Given the description of an element on the screen output the (x, y) to click on. 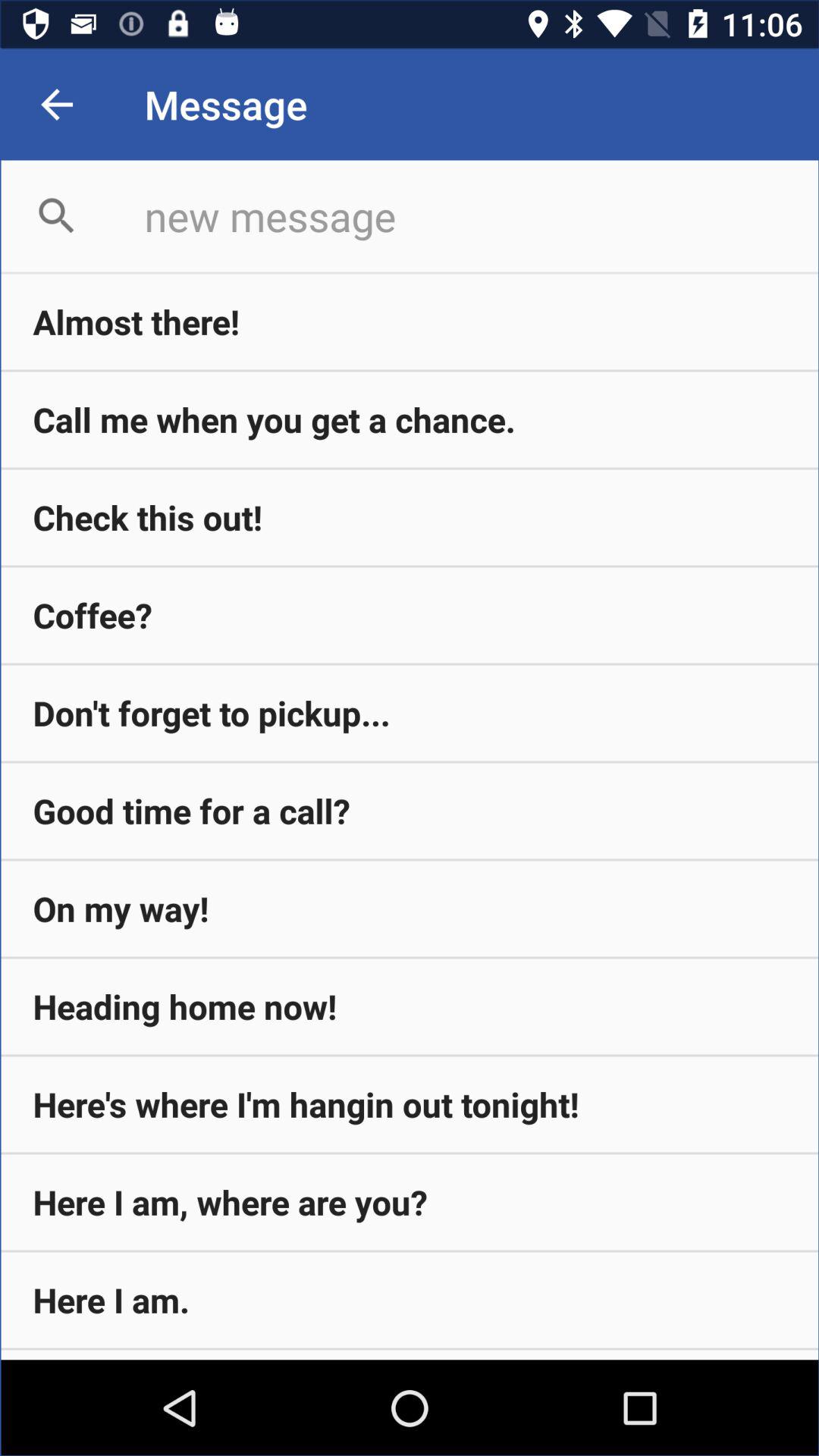
jump until almost there! icon (409, 321)
